Given the description of an element on the screen output the (x, y) to click on. 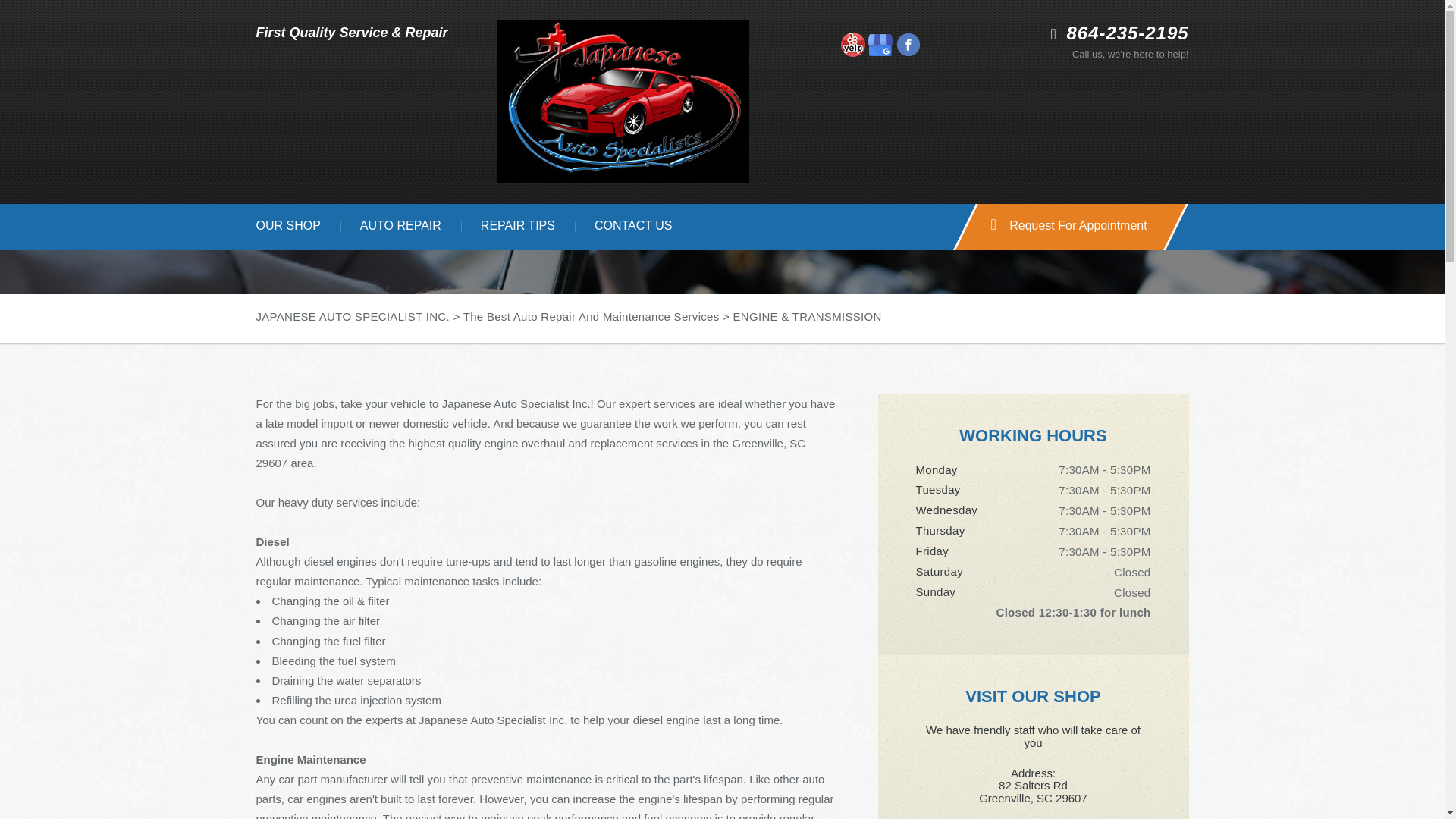
OUR SHOP (287, 226)
JAPANESE AUTO SPECIALIST INC. (352, 316)
REPAIR TIPS (518, 226)
864-235-2195 (616, 186)
The Best Auto Repair And Maintenance Services (591, 316)
GREENVILLE, SC 29607 (801, 186)
Request For Appointment (1059, 226)
AUTO REPAIR (400, 226)
82 SALTERS RD (698, 186)
864-235-2195 (1128, 32)
CONTACT US (634, 226)
